Given the description of an element on the screen output the (x, y) to click on. 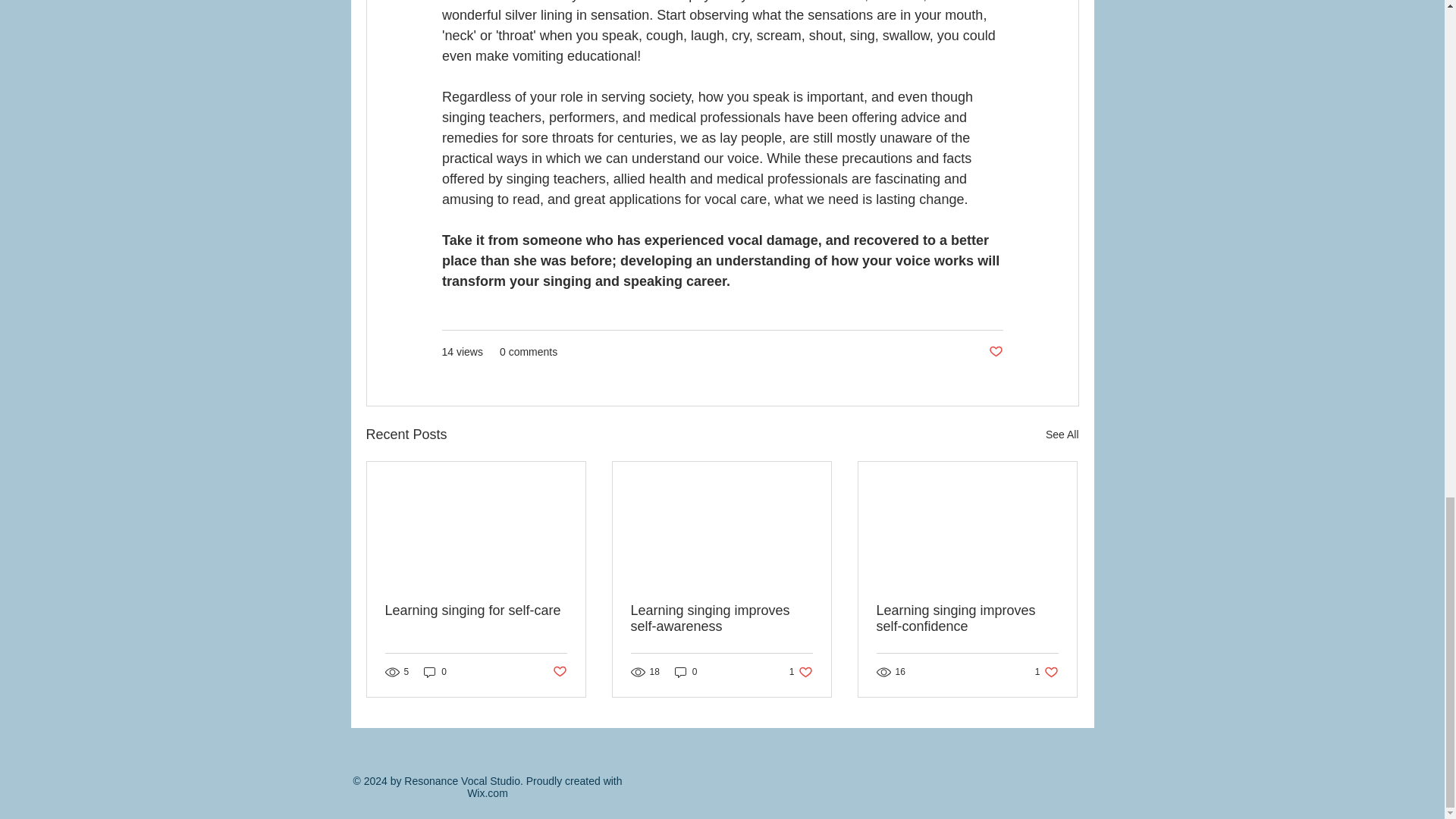
See All (1061, 434)
Post not marked as liked (558, 671)
Learning singing improves self-awareness (800, 672)
Wix.com (721, 618)
Learning singing for self-care (487, 793)
0 (476, 610)
0 (685, 672)
Post not marked as liked (1046, 672)
Learning singing improves self-confidence (435, 672)
